Given the description of an element on the screen output the (x, y) to click on. 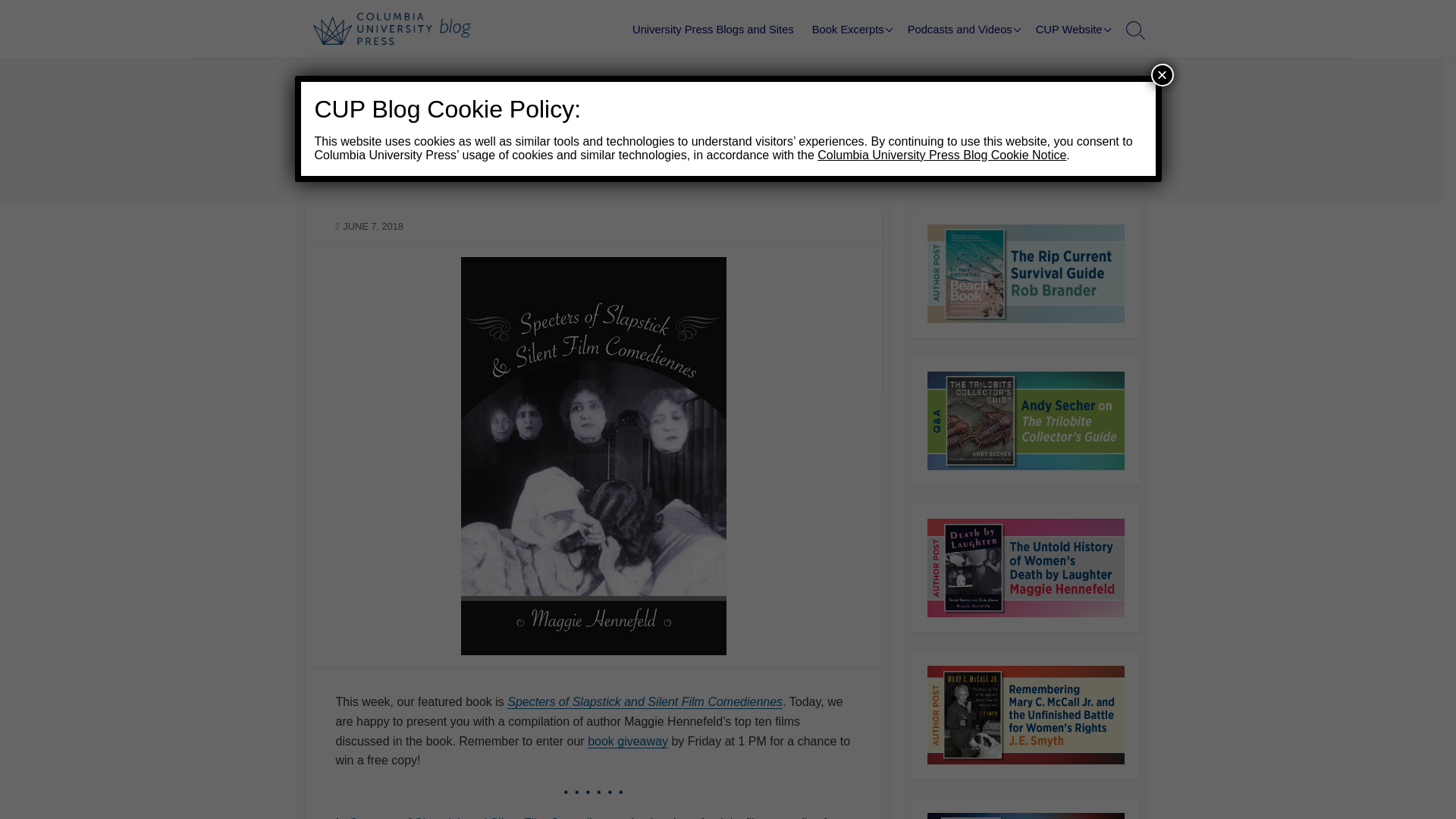
Columbia University Press Blog (399, 28)
Videos on the Blog (973, 53)
Film (637, 113)
Book Talks and Recorded Events (973, 88)
Off the Page: podcast (973, 26)
book giveaway (628, 740)
Podcasts and Videos (962, 29)
Specters of Slapstick and Silent Film Comediennes (644, 701)
Excerpts by Subject (879, 26)
The Columbia Global Book Series (973, 174)
Home (336, 113)
Book of the Week (567, 113)
New Books (1101, 26)
Contact Us (1101, 96)
University Press Blogs and Sites (713, 29)
